Given the description of an element on the screen output the (x, y) to click on. 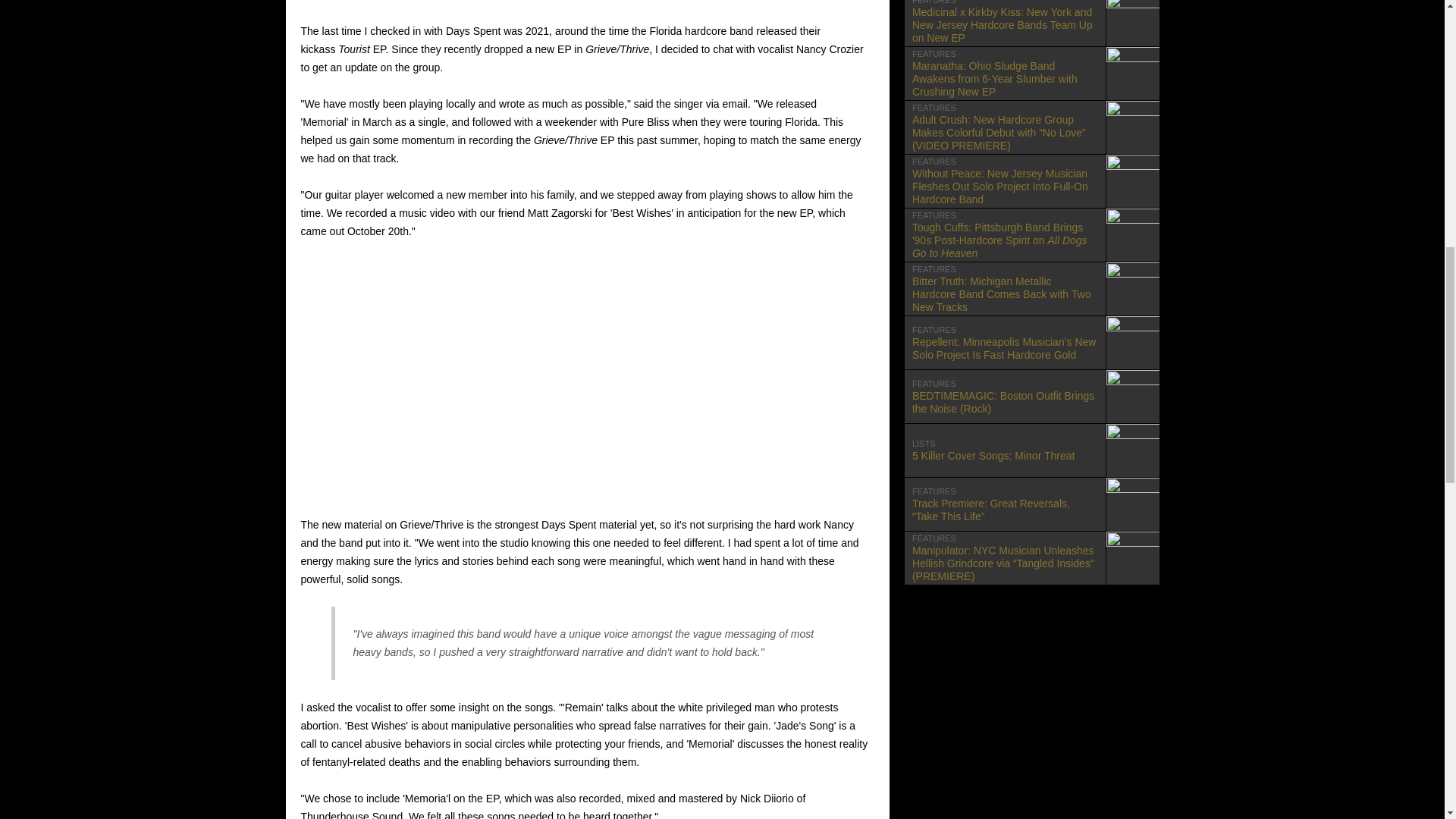
YouTube video player (1031, 450)
